Given the description of an element on the screen output the (x, y) to click on. 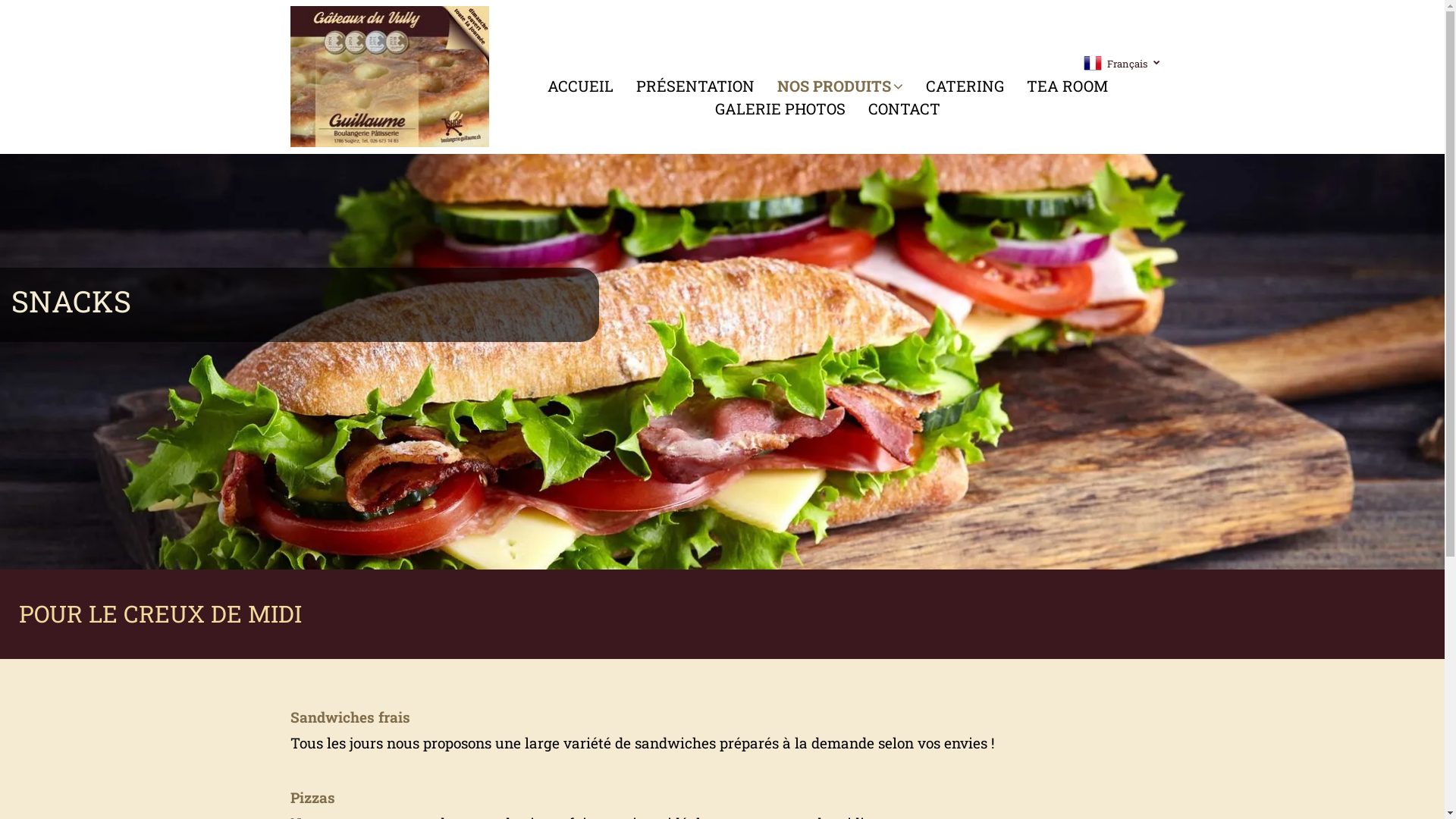
CATERING Element type: text (964, 85)
NOS PRODUITS Element type: text (840, 85)
TEA ROOM Element type: text (1066, 85)
CONTACT Element type: text (904, 108)
GALERIE PHOTOS Element type: text (780, 108)
ACCUEIL Element type: text (580, 85)
